Given the description of an element on the screen output the (x, y) to click on. 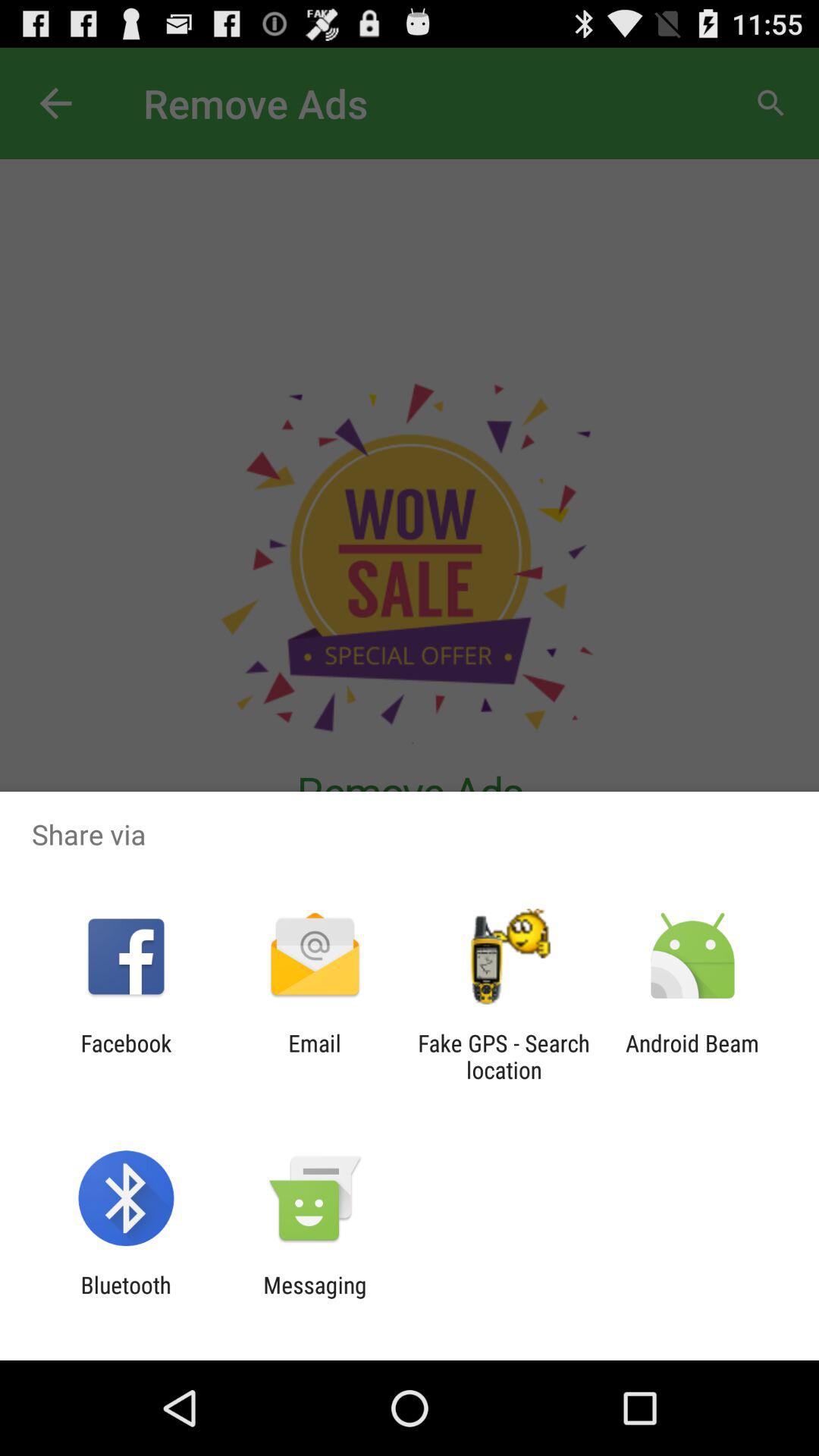
launch icon next to the email (125, 1056)
